Given the description of an element on the screen output the (x, y) to click on. 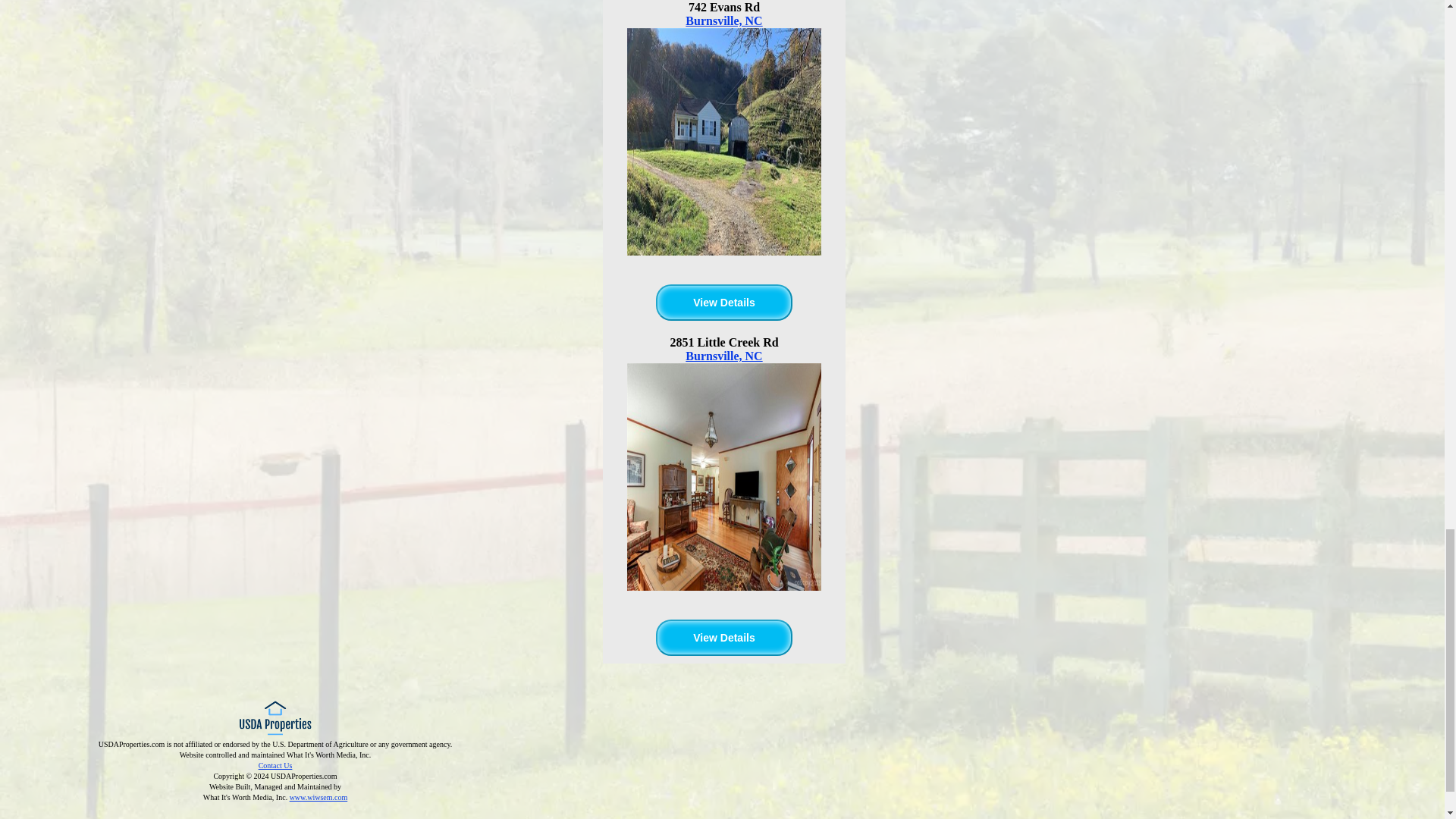
Details of this property were last updated on 2024-07-06 (724, 637)
Details of this property were last updated on 2024-07-24 (724, 302)
